Given the description of an element on the screen output the (x, y) to click on. 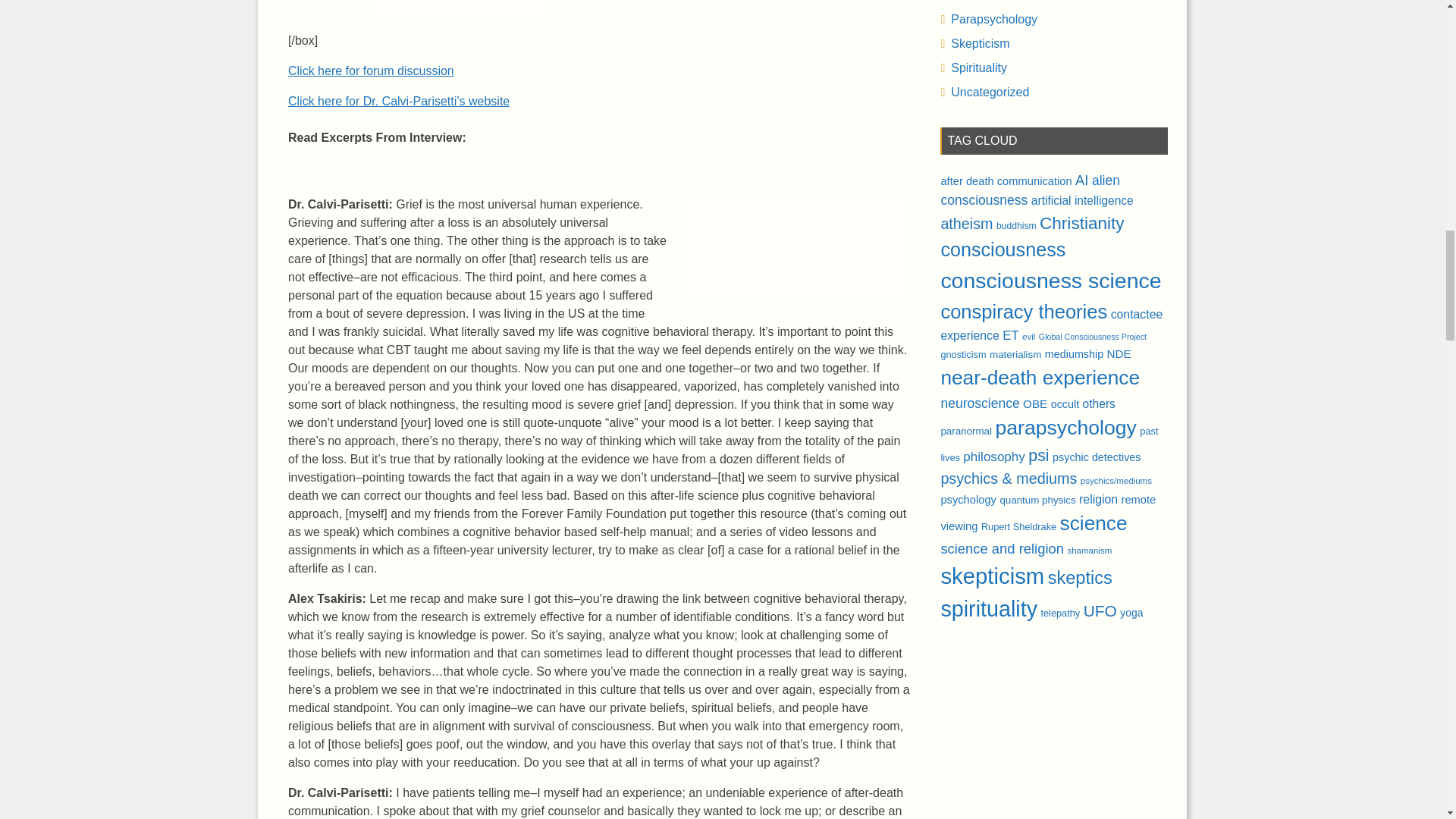
Click here for forum discussion (371, 70)
